Given the description of an element on the screen output the (x, y) to click on. 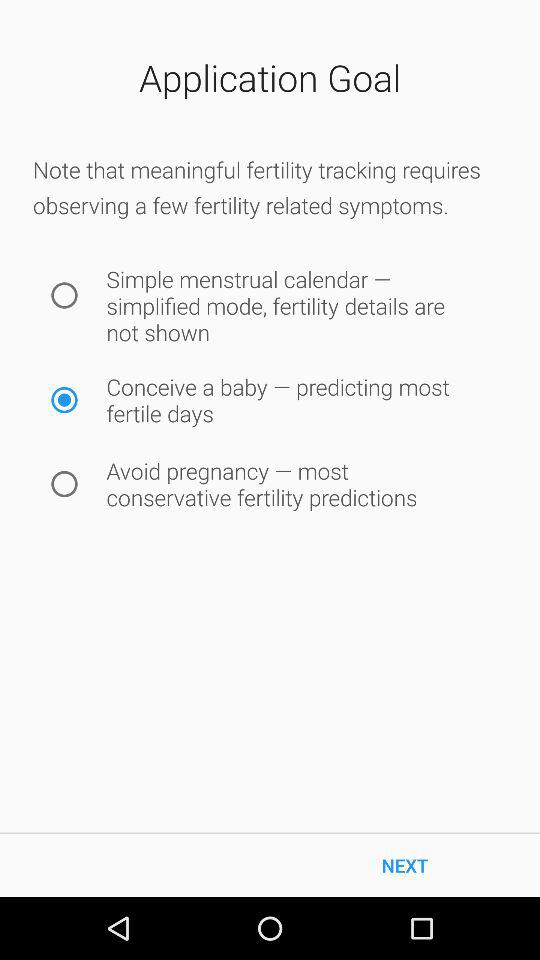
tap icon to the left of the simple menstrual calendar (64, 295)
